Given the description of an element on the screen output the (x, y) to click on. 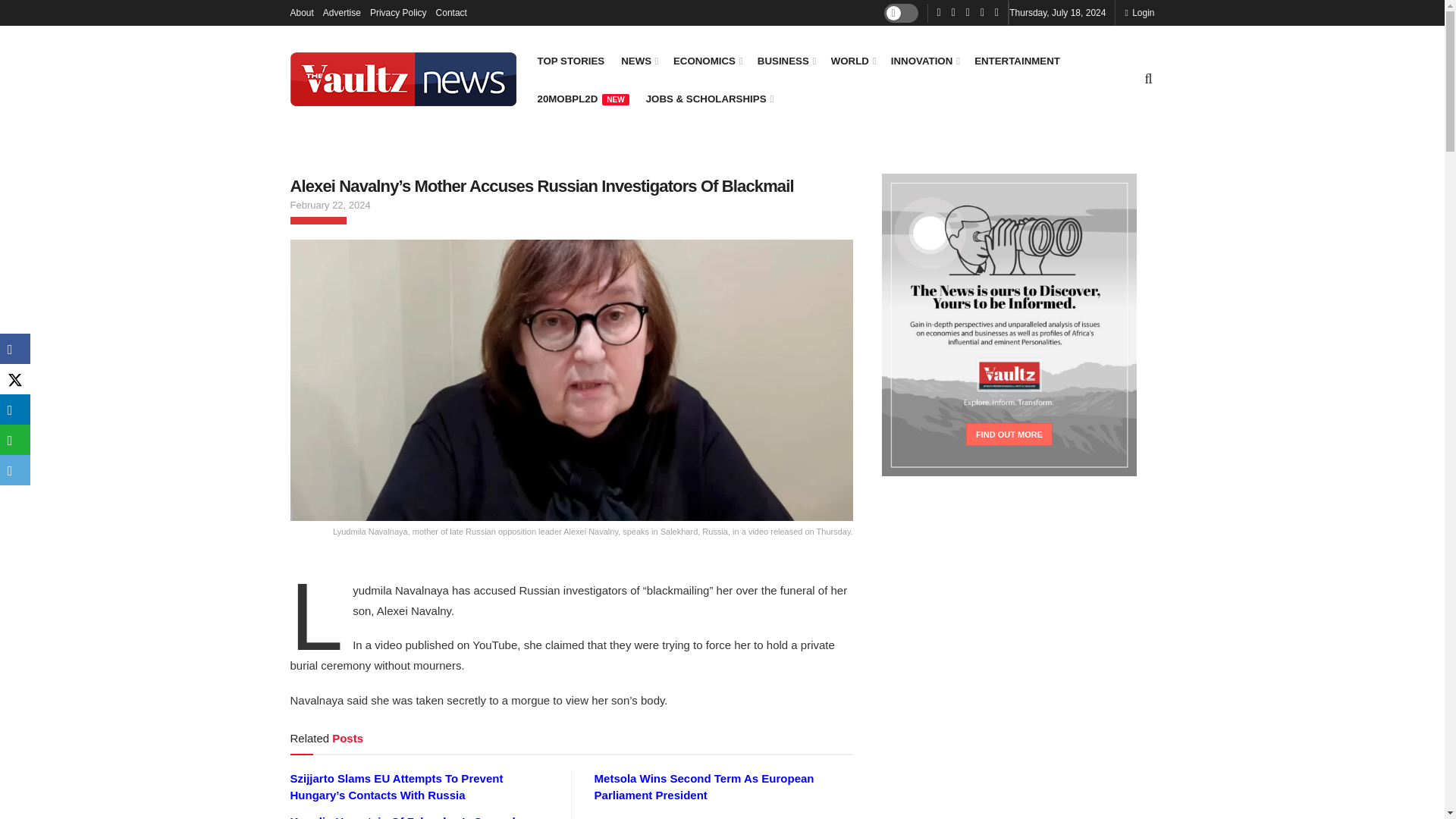
INNOVATION (924, 60)
NEWS (638, 60)
TOP STORIES (570, 60)
Contact (451, 12)
Advertise (342, 12)
ECONOMICS (706, 60)
Login (1139, 12)
About (301, 12)
FIND OUT MORE (1009, 434)
BUSINESS (785, 60)
WORLD (853, 60)
Privacy Policy (397, 12)
